Given the description of an element on the screen output the (x, y) to click on. 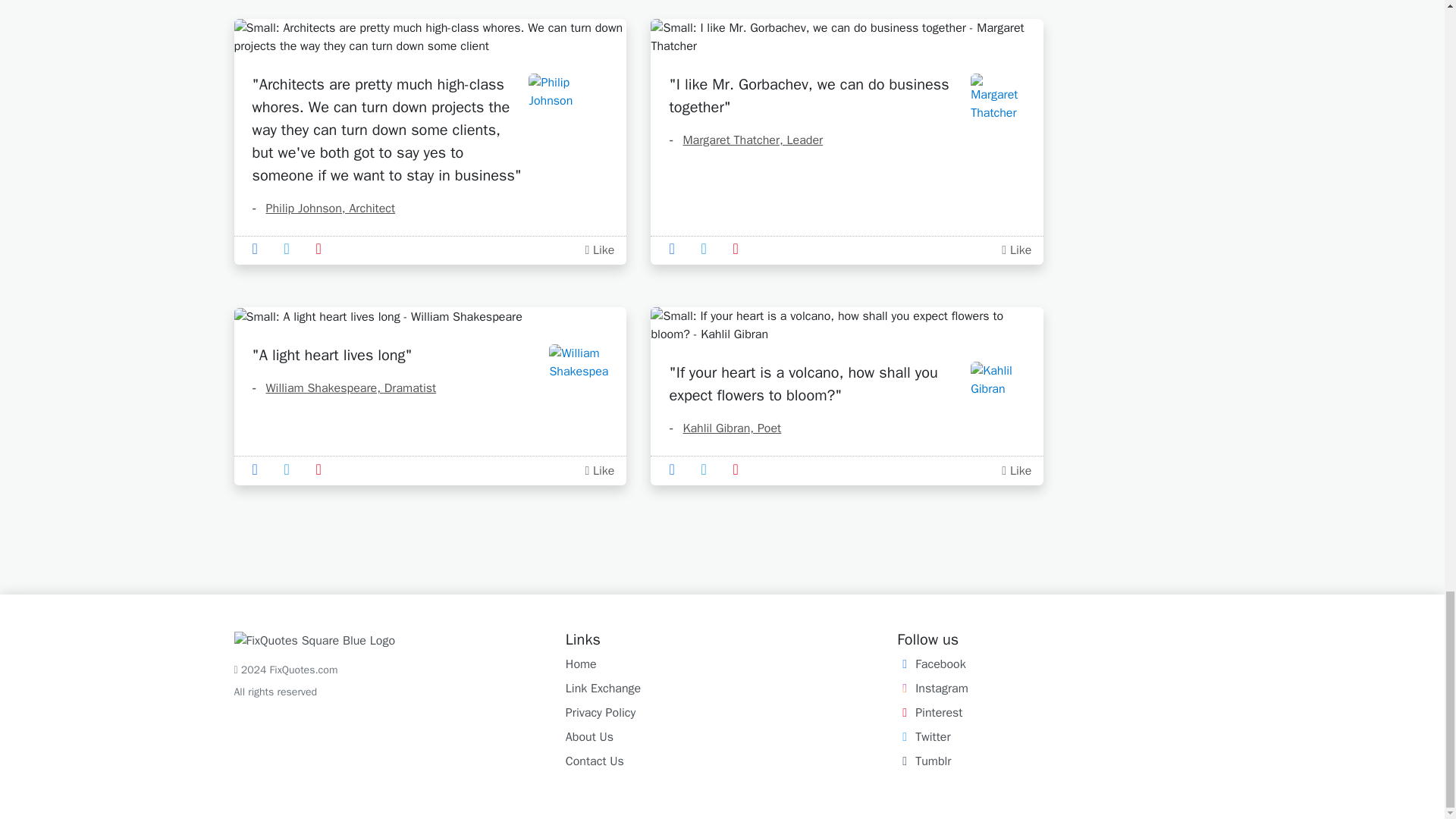
William Shakespeare, Dramatist (343, 387)
Philip Johnson, Architect (322, 208)
Kahlil Gibran, Poet (724, 427)
Margaret Thatcher, Leader (745, 140)
